Given the description of an element on the screen output the (x, y) to click on. 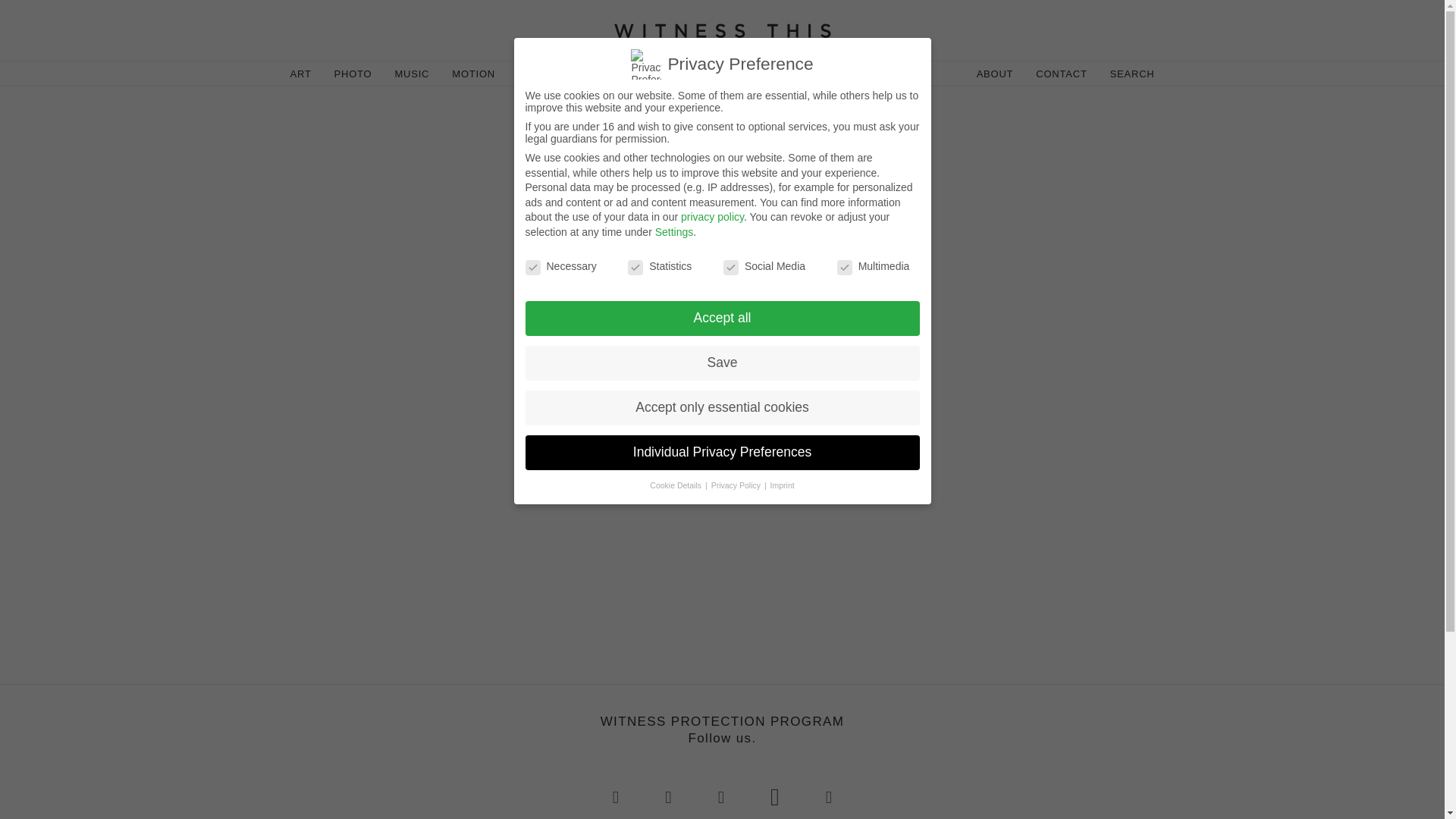
PHOTO (353, 73)
CONTACT (1061, 73)
Travel (595, 73)
Art (301, 73)
Photo (353, 73)
TRAVEL (595, 73)
MOTION (473, 73)
Contact (1061, 73)
Motion (473, 73)
STYLE (534, 73)
